Given the description of an element on the screen output the (x, y) to click on. 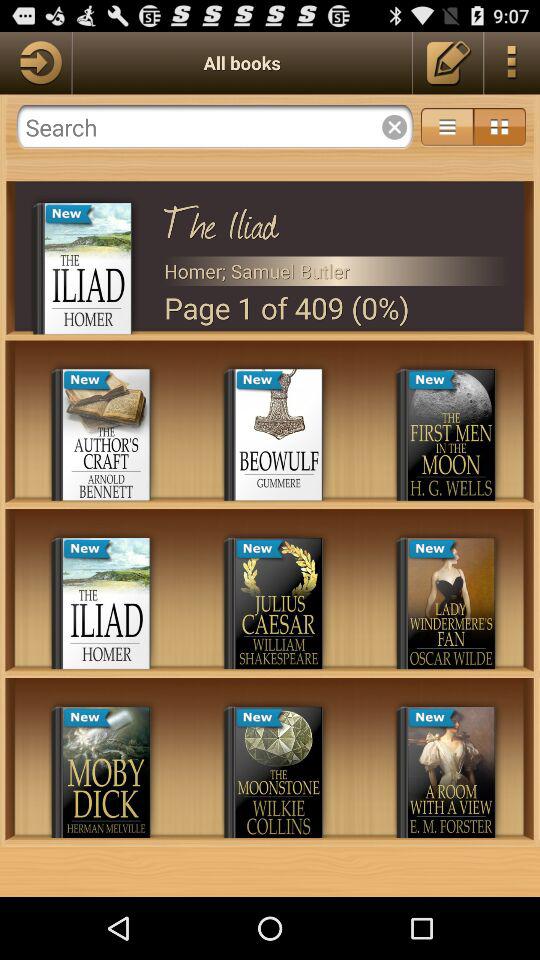
swipe until the iliad icon (336, 219)
